Given the description of an element on the screen output the (x, y) to click on. 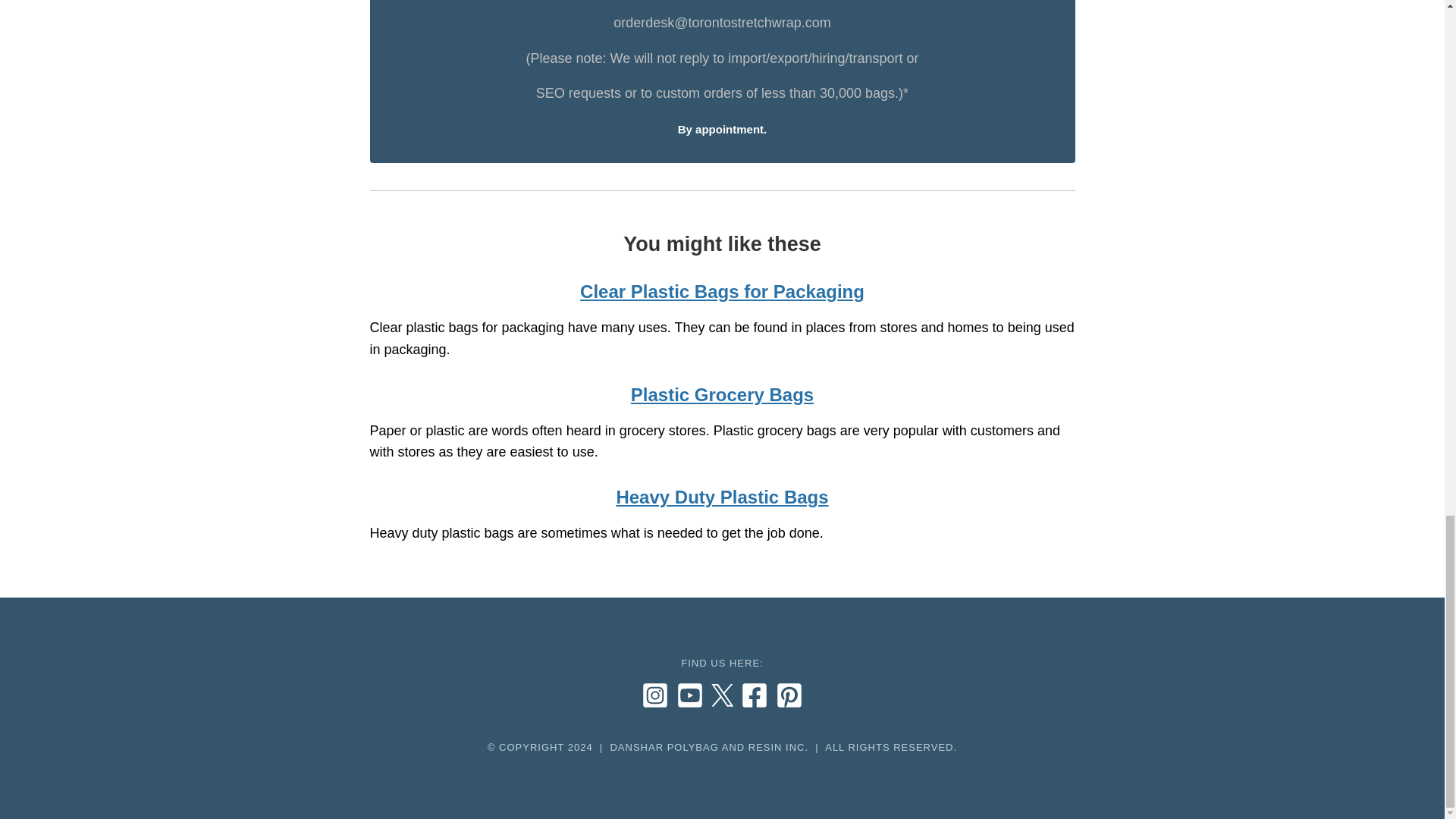
Plastic Grocery Bags (721, 394)
Heavy Duty Plastic Bags (721, 496)
Clear Plastic Bags for Packaging (721, 291)
